Given the description of an element on the screen output the (x, y) to click on. 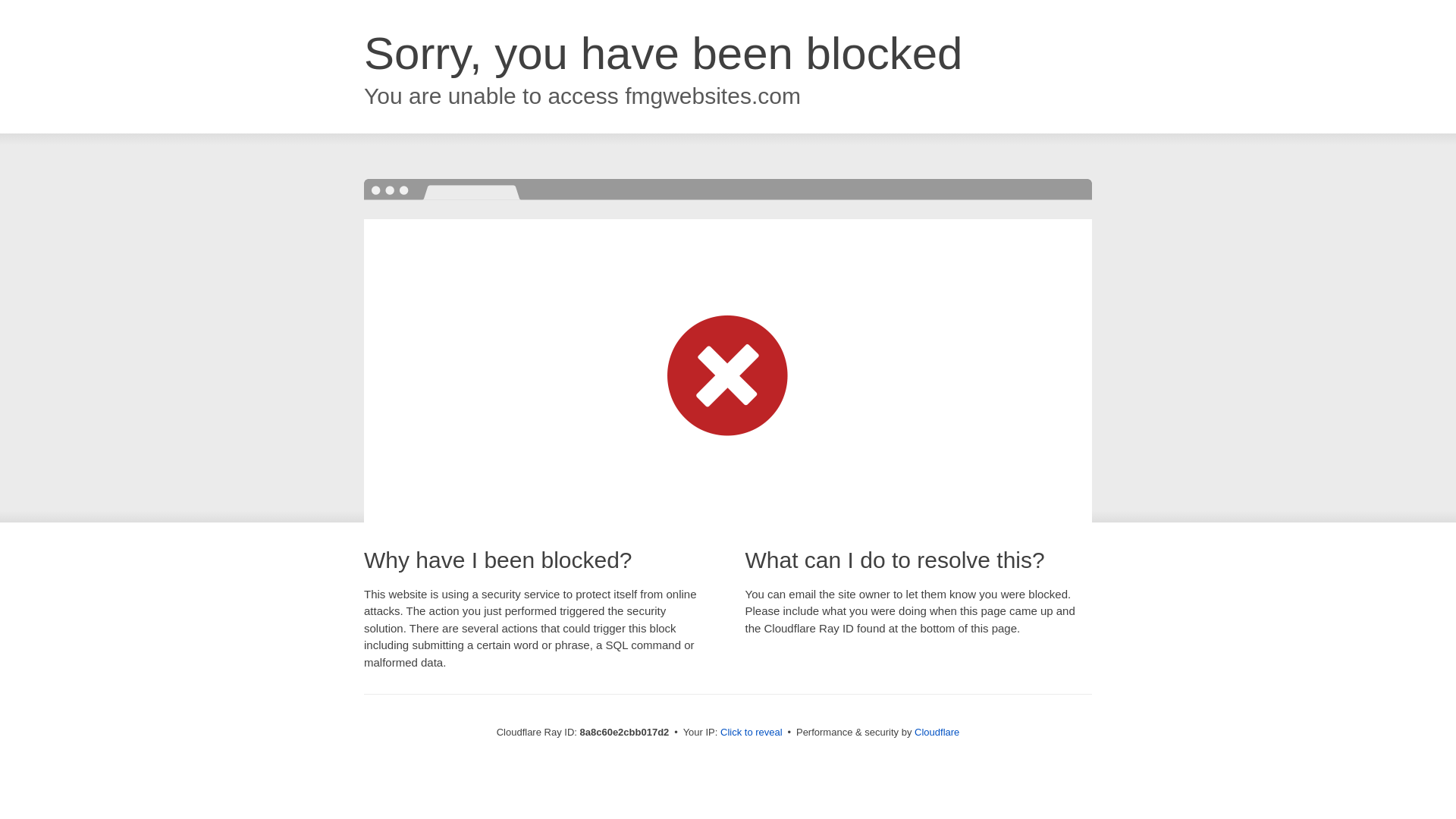
Click to reveal (751, 732)
Cloudflare (936, 731)
